Given the description of an element on the screen output the (x, y) to click on. 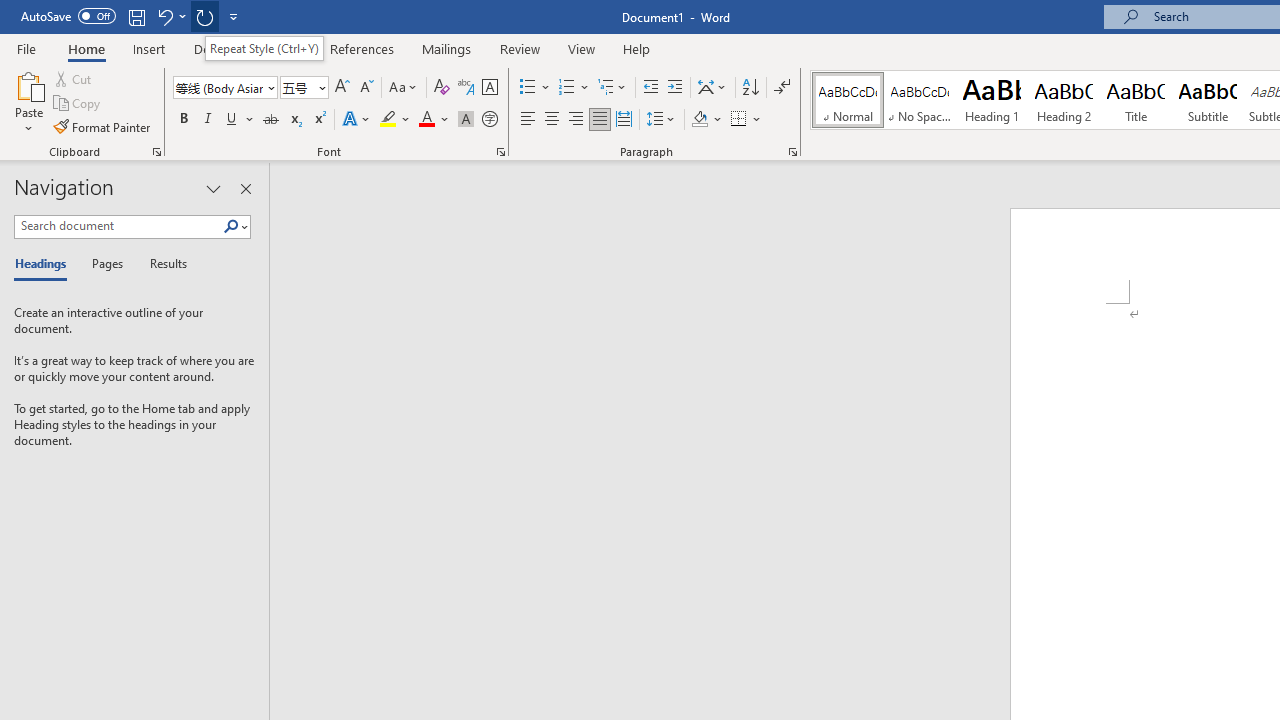
Sort... (750, 87)
Font Size (297, 87)
Font Size (304, 87)
Format Painter (103, 126)
Paragraph... (792, 151)
Borders (739, 119)
Pages (105, 264)
Repeat Style (204, 15)
Subscript (294, 119)
Office Clipboard... (156, 151)
Task Pane Options (214, 188)
Superscript (319, 119)
Layout (282, 48)
Shading (706, 119)
Align Left (527, 119)
